Given the description of an element on the screen output the (x, y) to click on. 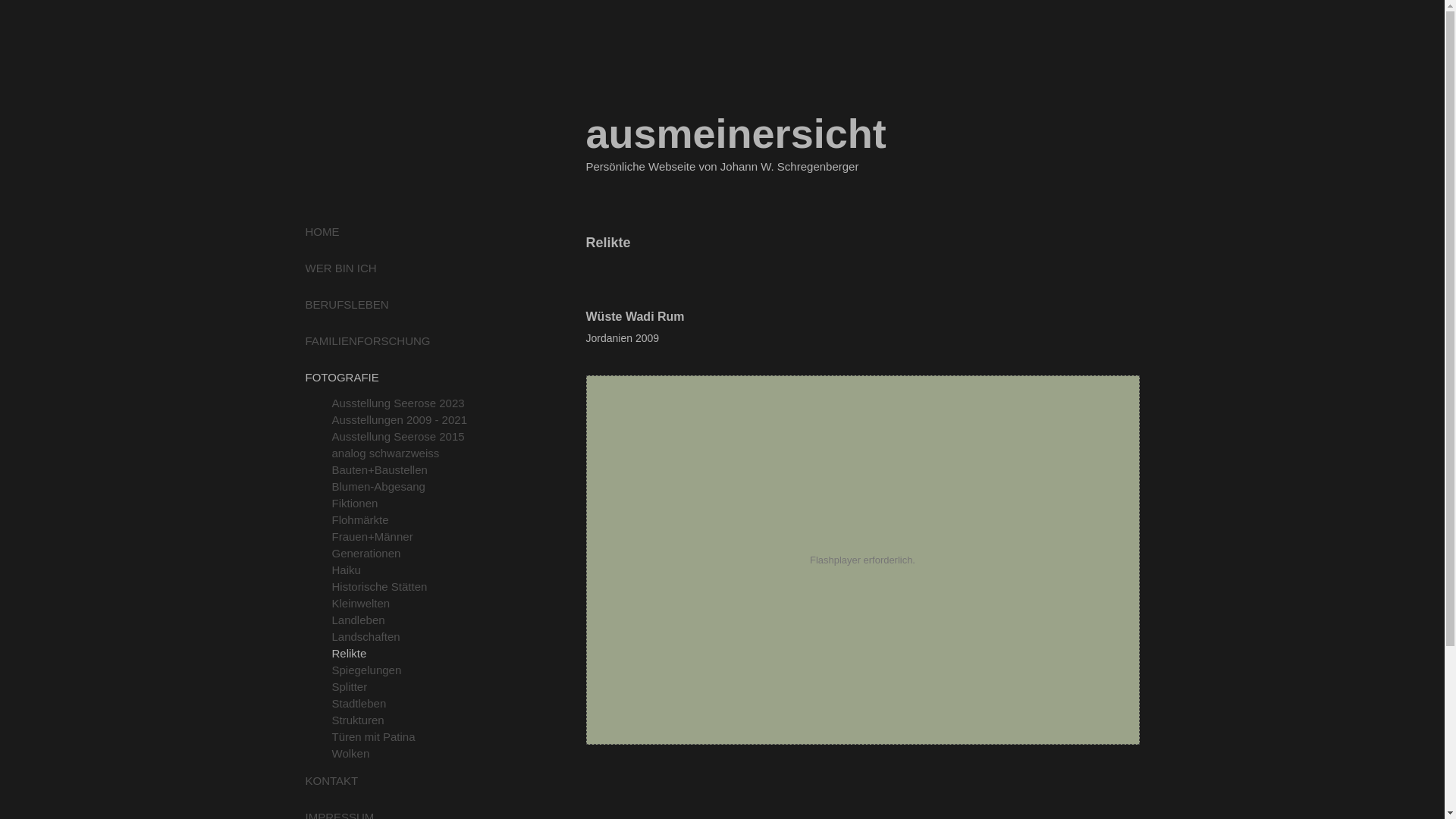
Ausstellung Seerose 2015 Element type: text (408, 436)
Ausstellung Seerose 2023 Element type: text (408, 403)
Landschaften Element type: text (408, 636)
KONTAKT Element type: text (330, 780)
Kleinwelten Element type: text (408, 603)
Strukturen Element type: text (408, 720)
HOME Element type: text (321, 231)
Generationen Element type: text (408, 553)
FAMILIENFORSCHUNG Element type: text (366, 340)
BERUFSLEBEN Element type: text (346, 304)
Fiktionen Element type: text (408, 503)
analog schwarzweiss Element type: text (408, 453)
Flashplayer erforderlich. Element type: text (862, 559)
FOTOGRAFIE Element type: text (341, 376)
Wolken Element type: text (408, 753)
Ausstellungen 2009 - 2021 Element type: text (408, 419)
Blumen-Abgesang Element type: text (408, 486)
Haiku Element type: text (408, 569)
Spiegelungen Element type: text (408, 669)
WER BIN ICH Element type: text (340, 267)
Bauten+Baustellen Element type: text (408, 469)
Landleben Element type: text (408, 619)
Splitter Element type: text (408, 686)
Stadtleben Element type: text (408, 703)
Relikte Element type: text (408, 653)
